Given the description of an element on the screen output the (x, y) to click on. 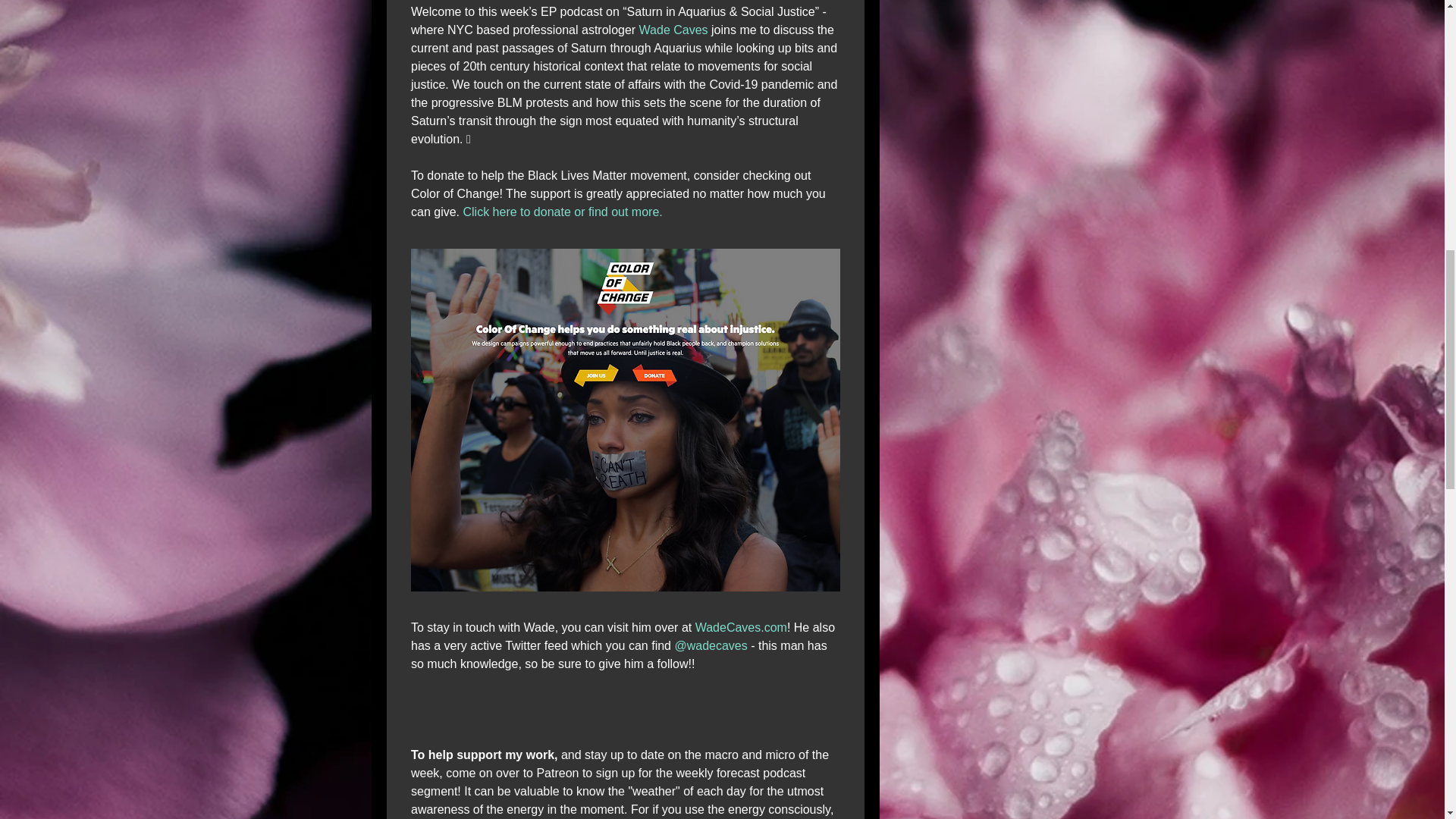
Click here to donate or find out more. (562, 211)
Wade Caves (673, 29)
WadeCaves.com (740, 626)
